Given the description of an element on the screen output the (x, y) to click on. 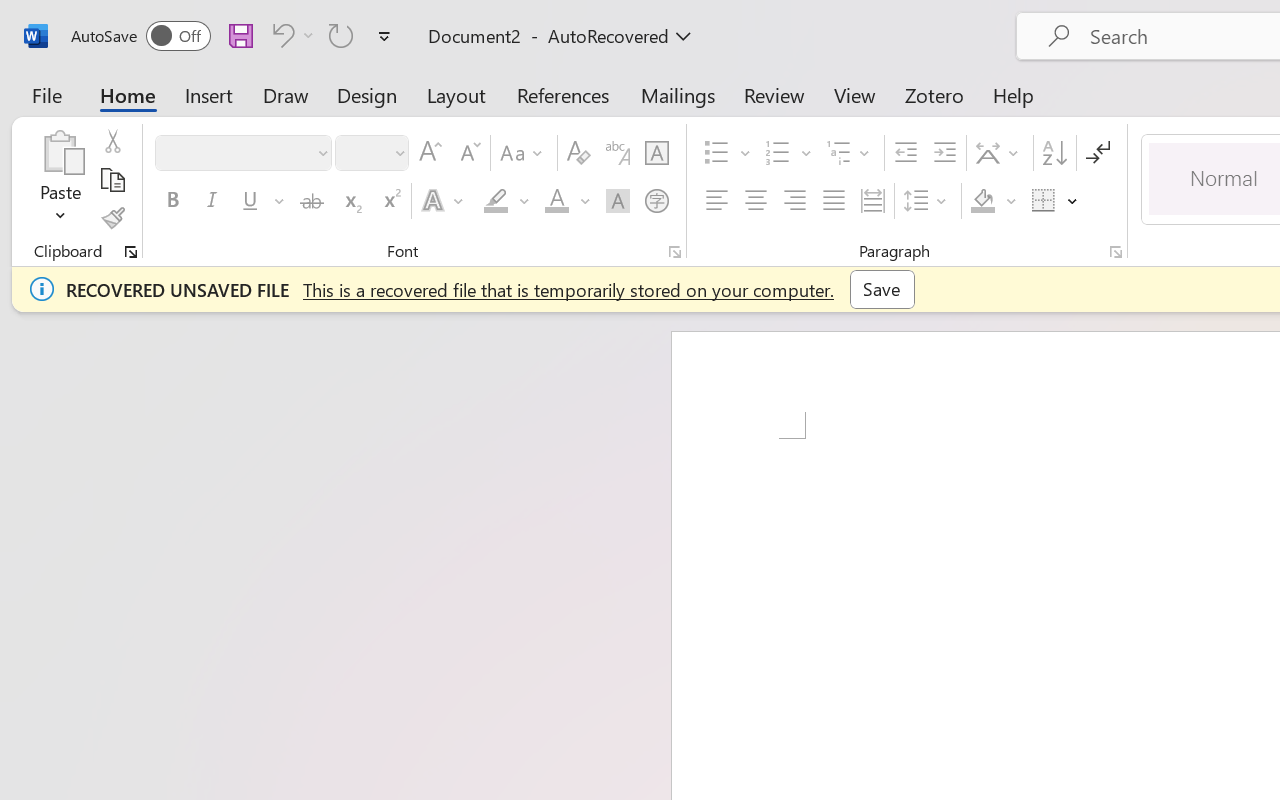
Font Color RGB(255, 0, 0) (556, 201)
Paragraph... (1115, 252)
Character Border (656, 153)
Phonetic Guide... (618, 153)
Show/Hide Editing Marks (1098, 153)
Change Case (524, 153)
Align Left (716, 201)
Decrease Indent (906, 153)
